Given the description of an element on the screen output the (x, y) to click on. 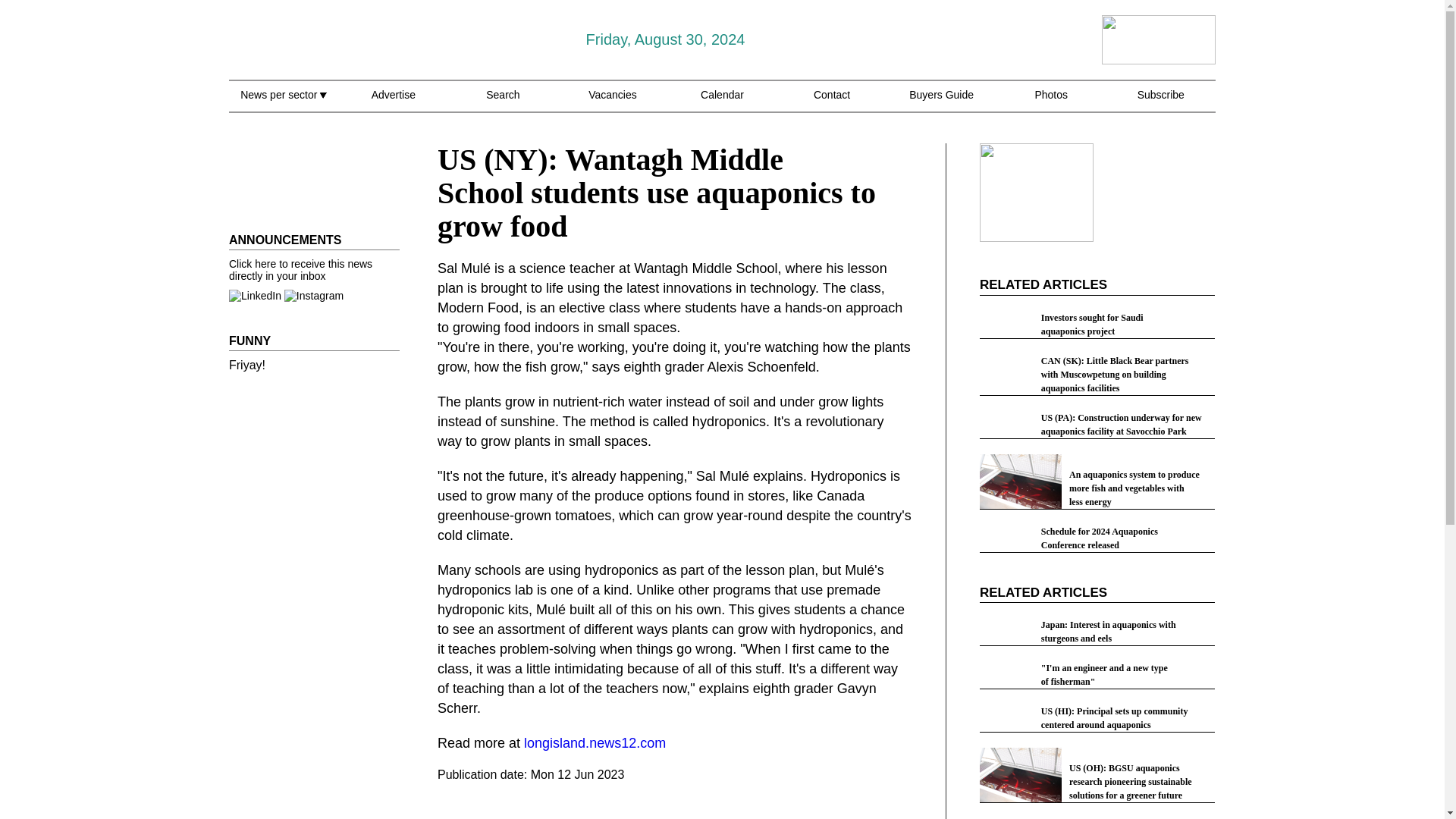
Advertise (392, 103)
Search (502, 103)
News per sector (283, 103)
